Given the description of an element on the screen output the (x, y) to click on. 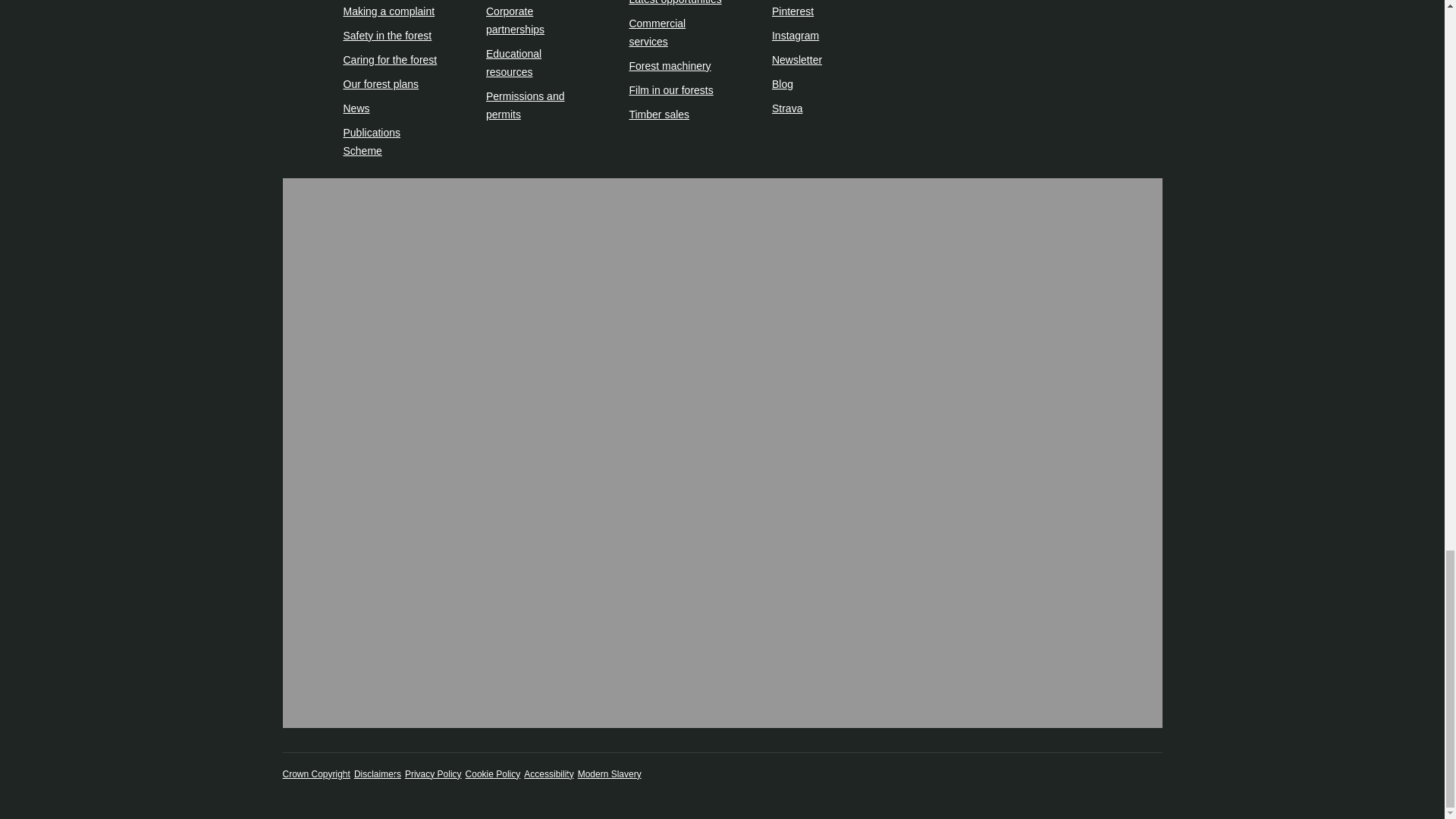
Privacy Policy link (432, 774)
